Given the description of an element on the screen output the (x, y) to click on. 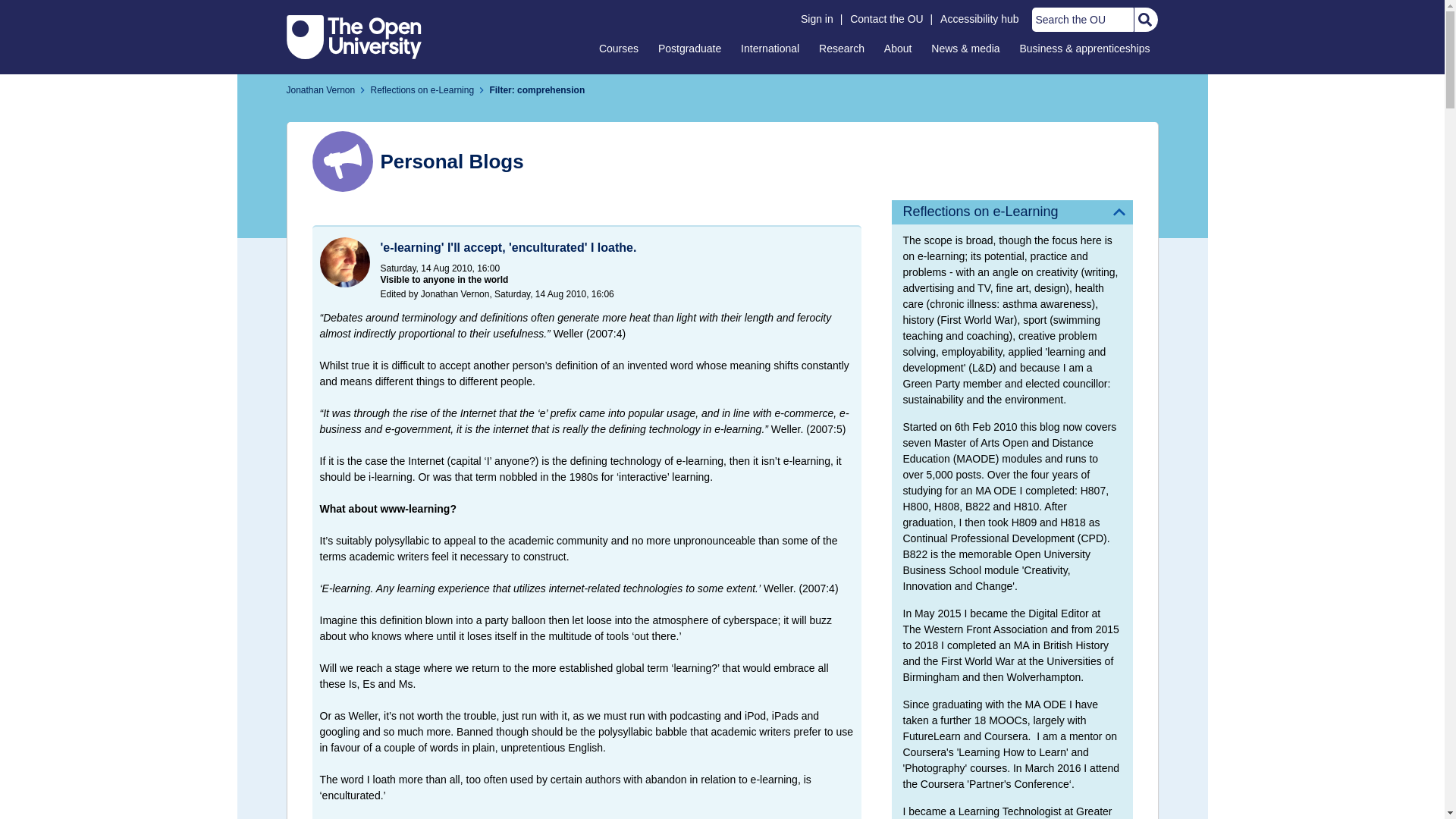
Search (1144, 19)
Reflections on e-Learning (1011, 211)
Jonathan Vernon (320, 90)
Courses (618, 48)
Postgraduate (689, 48)
Sign in (816, 19)
About (898, 48)
Reflections on e-Learning (421, 90)
Search (1144, 19)
